Given the description of an element on the screen output the (x, y) to click on. 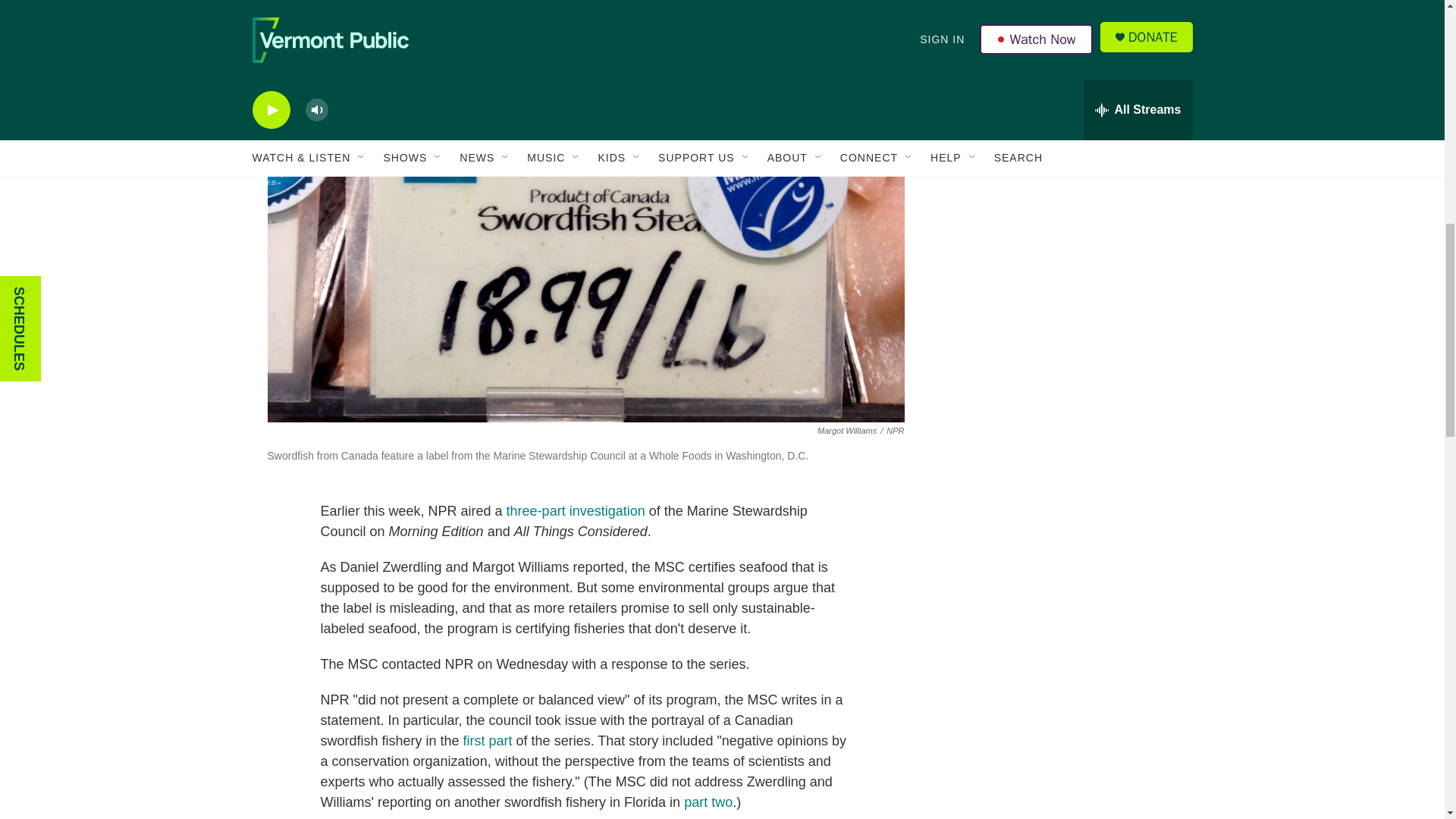
3rd party ad content (1062, 124)
3rd party ad content (1062, 343)
